Given the description of an element on the screen output the (x, y) to click on. 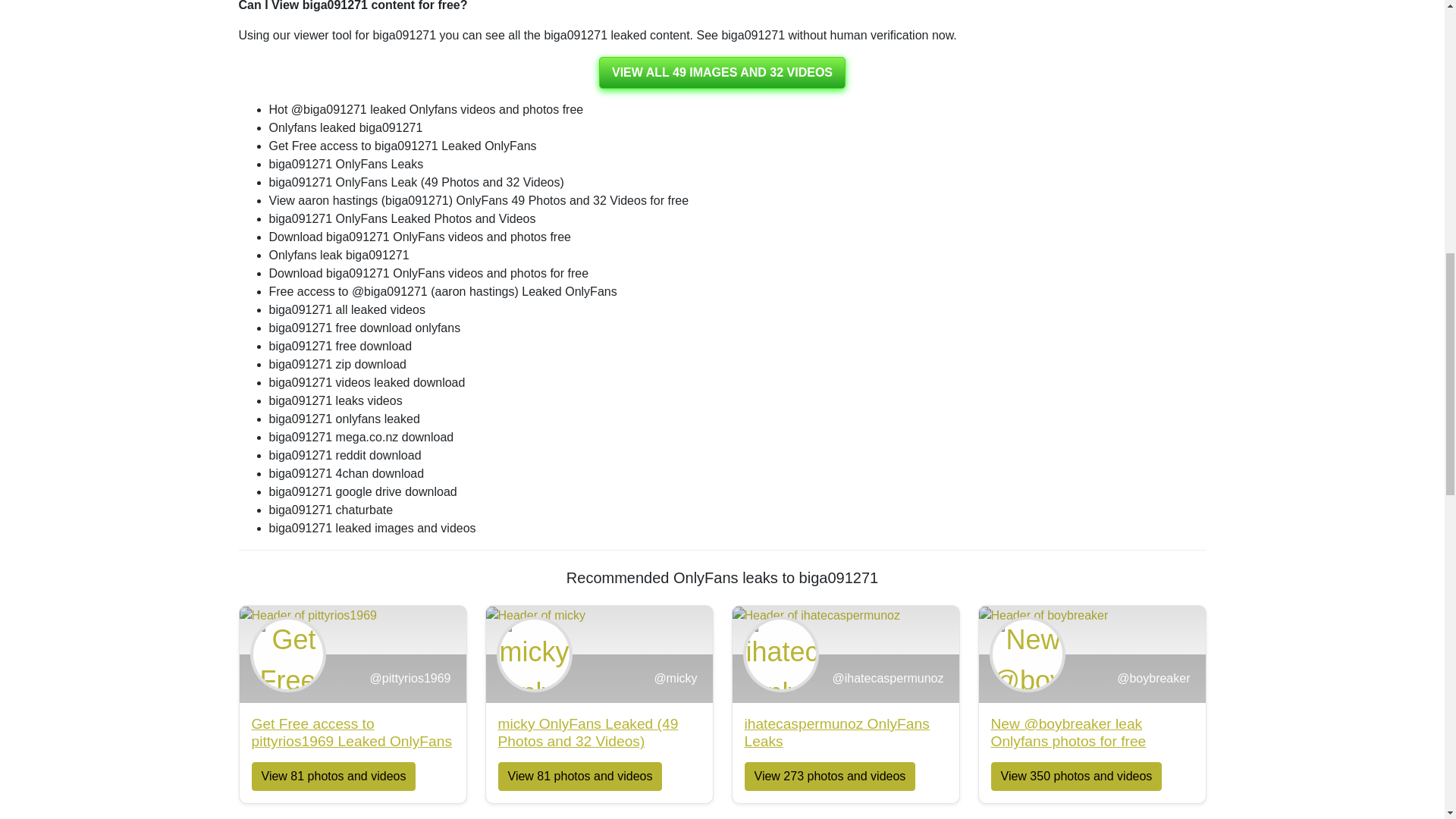
VIEW ALL 49 IMAGES AND 32 VIDEOS (845, 748)
